Given the description of an element on the screen output the (x, y) to click on. 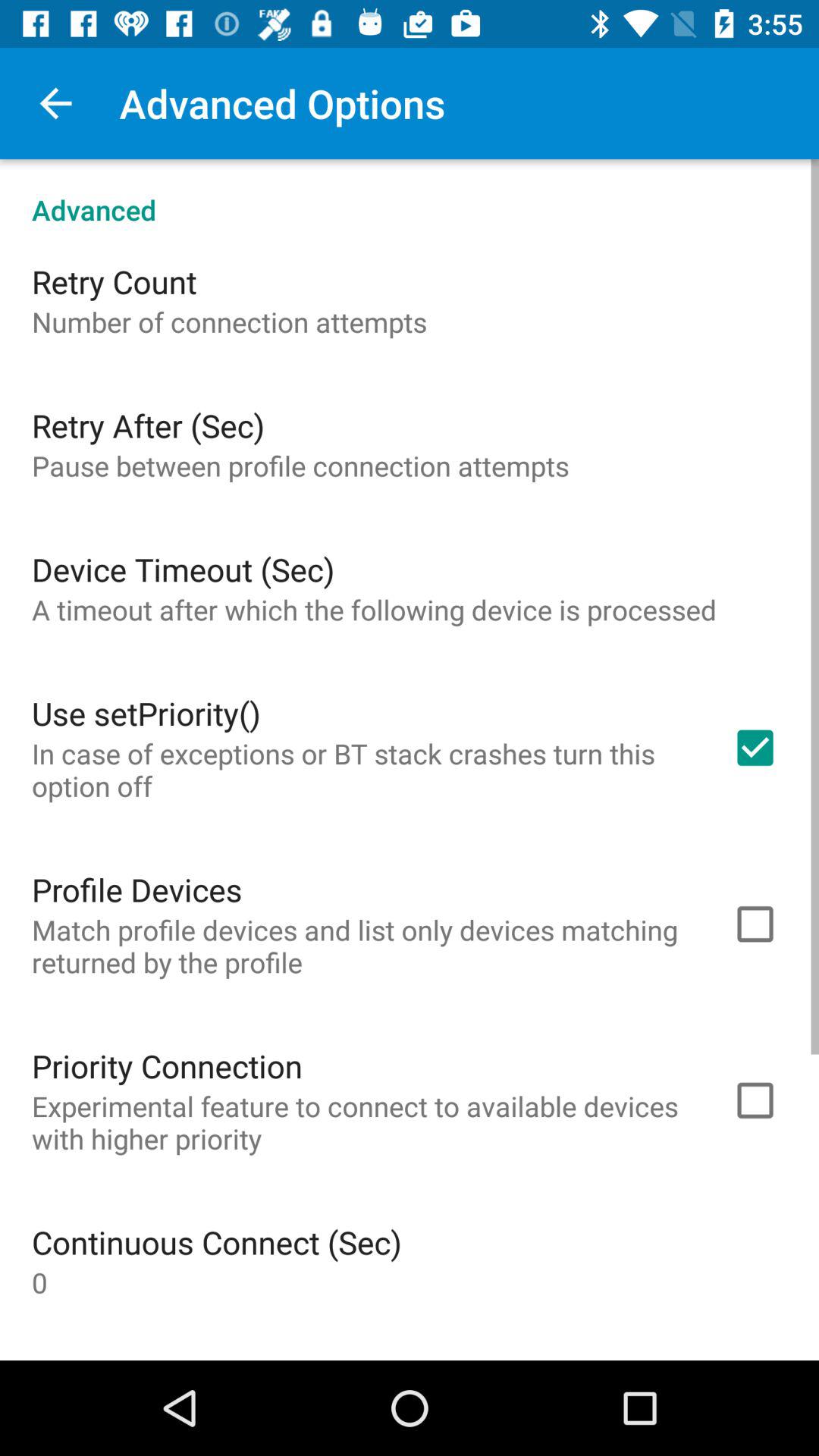
scroll to priority connection item (166, 1065)
